Given the description of an element on the screen output the (x, y) to click on. 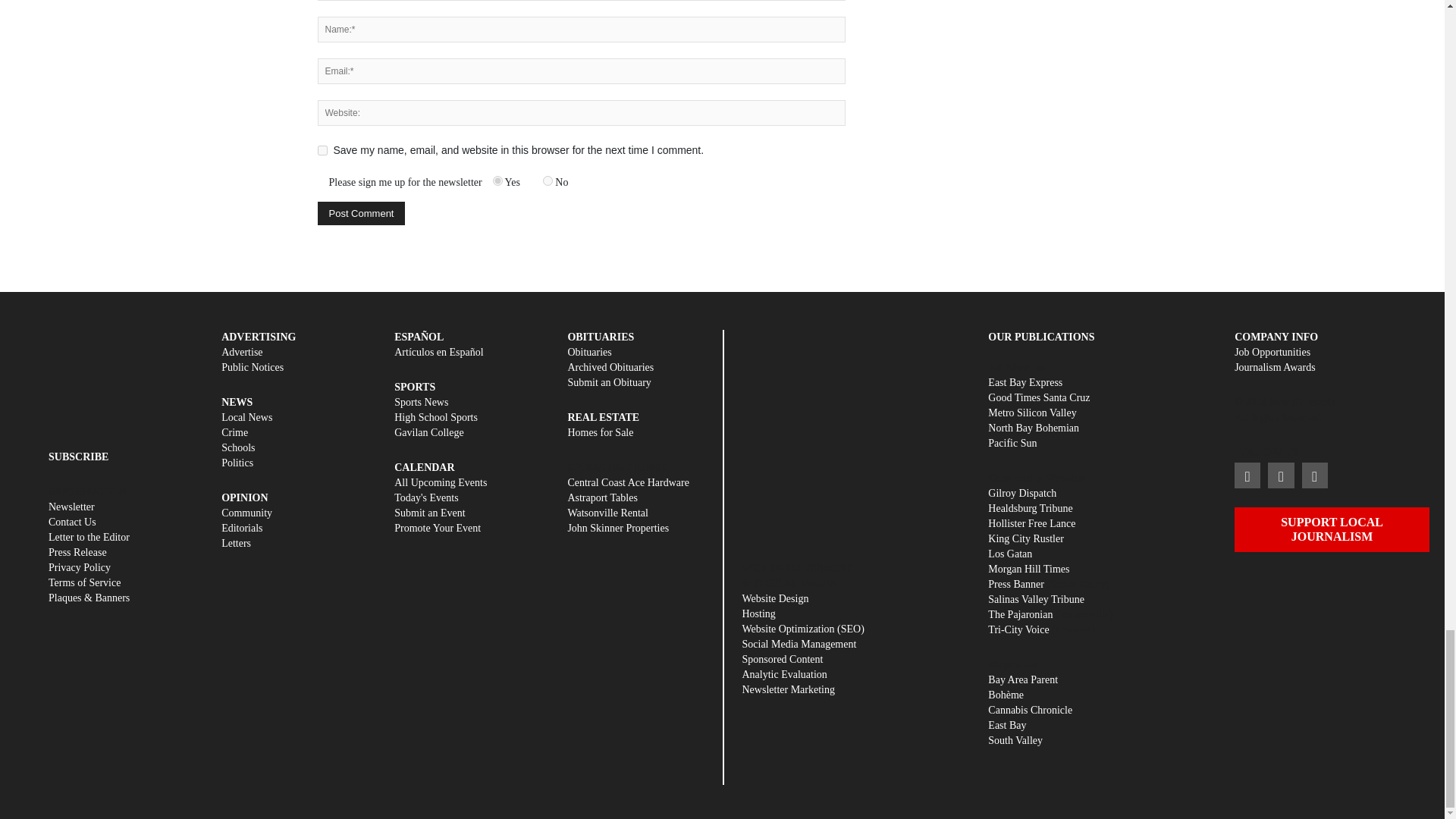
Post Comment (360, 213)
No (548, 180)
yes (321, 150)
Yes (497, 180)
